Given the description of an element on the screen output the (x, y) to click on. 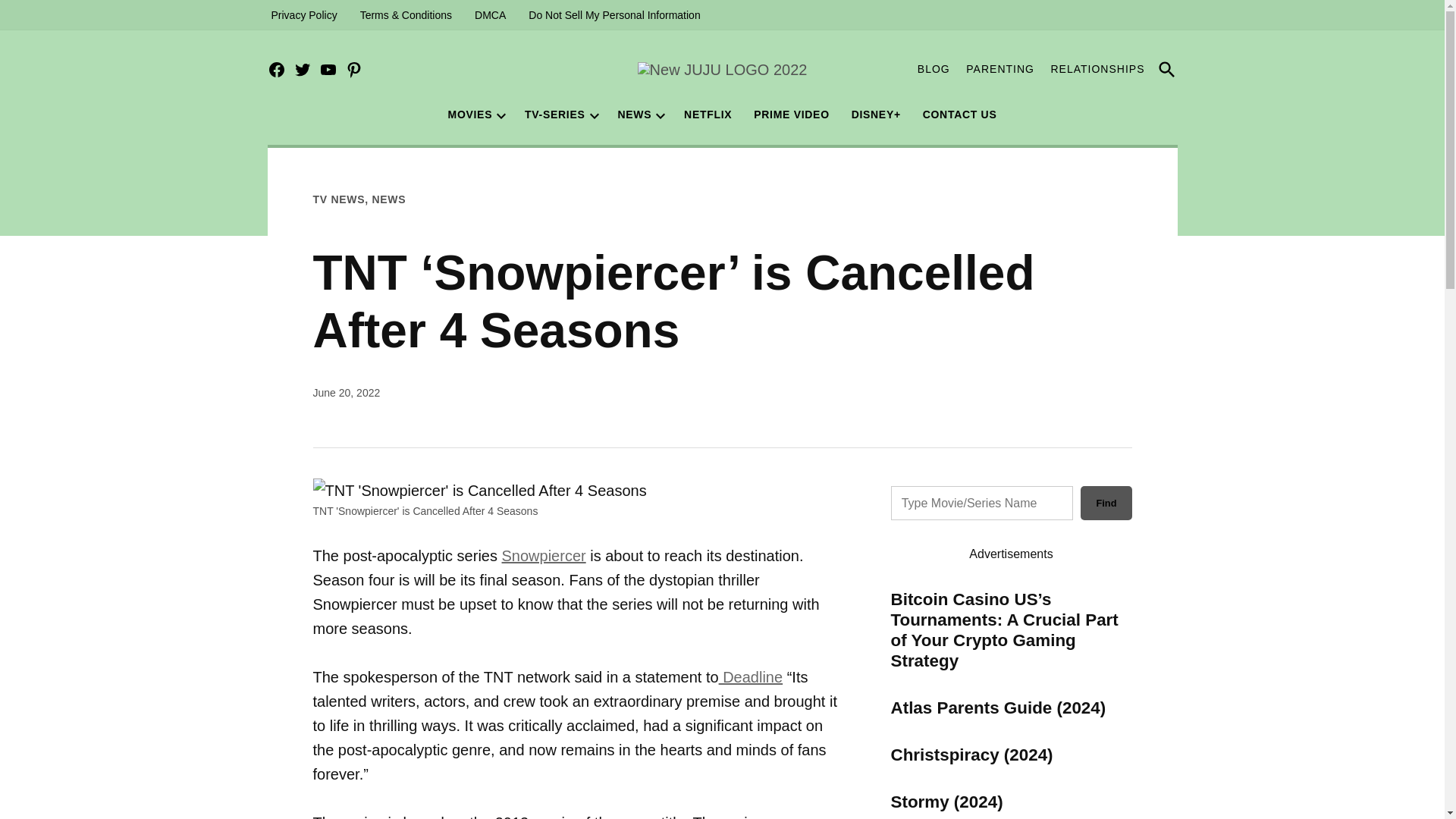
Do Not Sell My Personal Information (613, 14)
YouTube (327, 69)
TNT 'Snowpiercer' is Cancelled After 4 Seasons 1 (479, 490)
DMCA (489, 14)
Twitter (301, 69)
Facebook (275, 69)
Privacy Policy (303, 14)
